Given the description of an element on the screen output the (x, y) to click on. 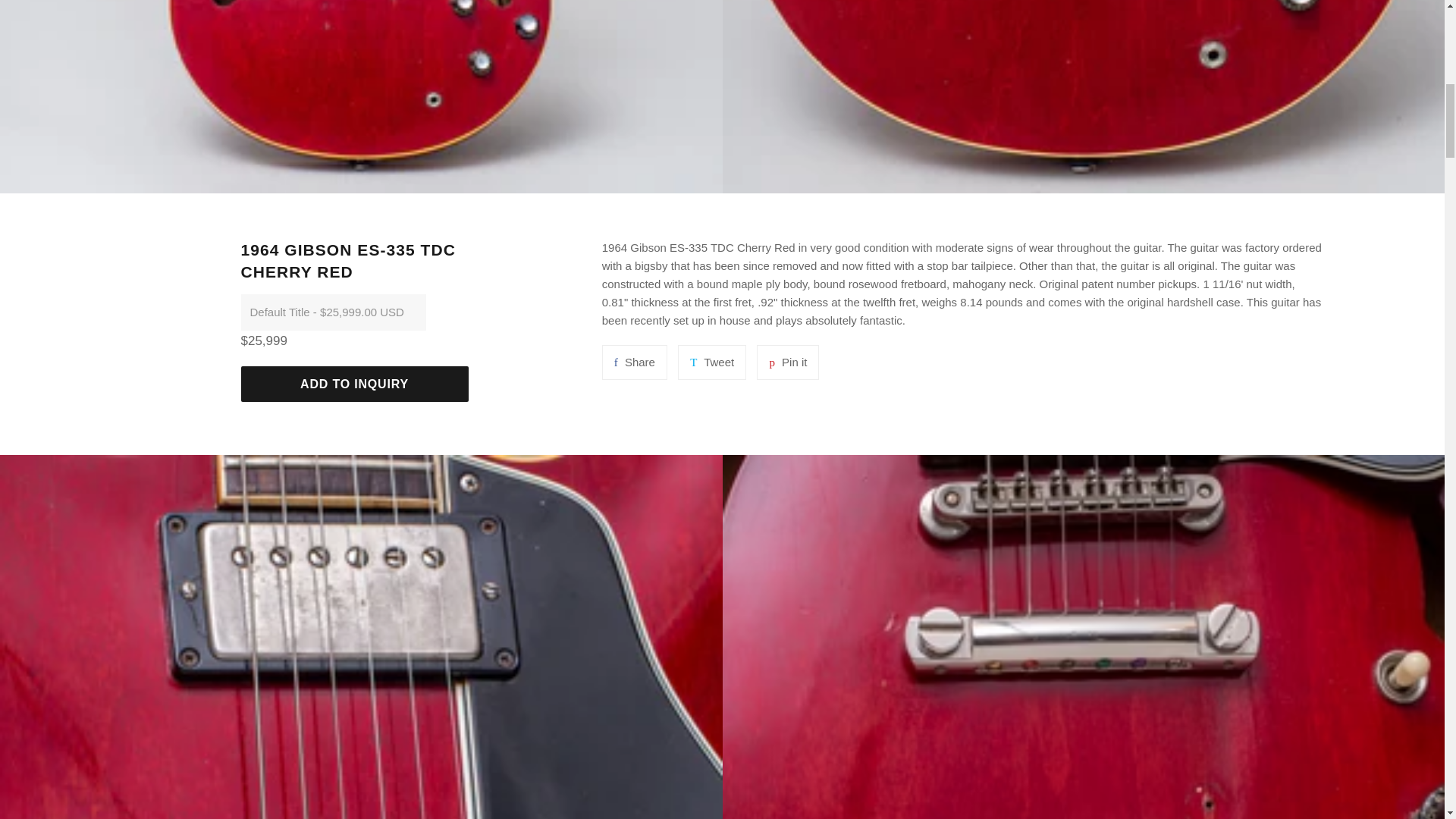
Pin on Pinterest (634, 362)
Tweet on Twitter (711, 362)
Share on Facebook (787, 362)
ADD TO INQUIRY (711, 362)
